Given the description of an element on the screen output the (x, y) to click on. 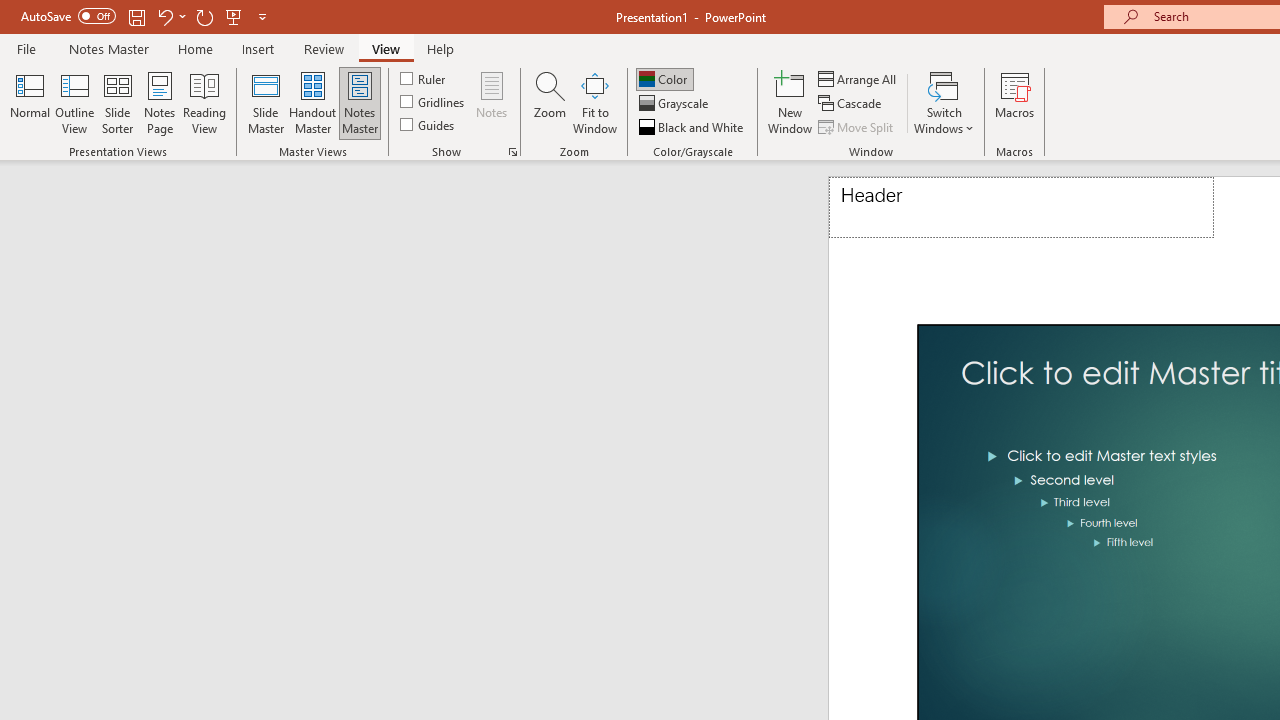
Notes Master (108, 48)
Grid Settings... (512, 151)
Handout Master (312, 102)
Header (1021, 207)
Arrange All (858, 78)
Fit to Window (594, 102)
Color (664, 78)
